Given the description of an element on the screen output the (x, y) to click on. 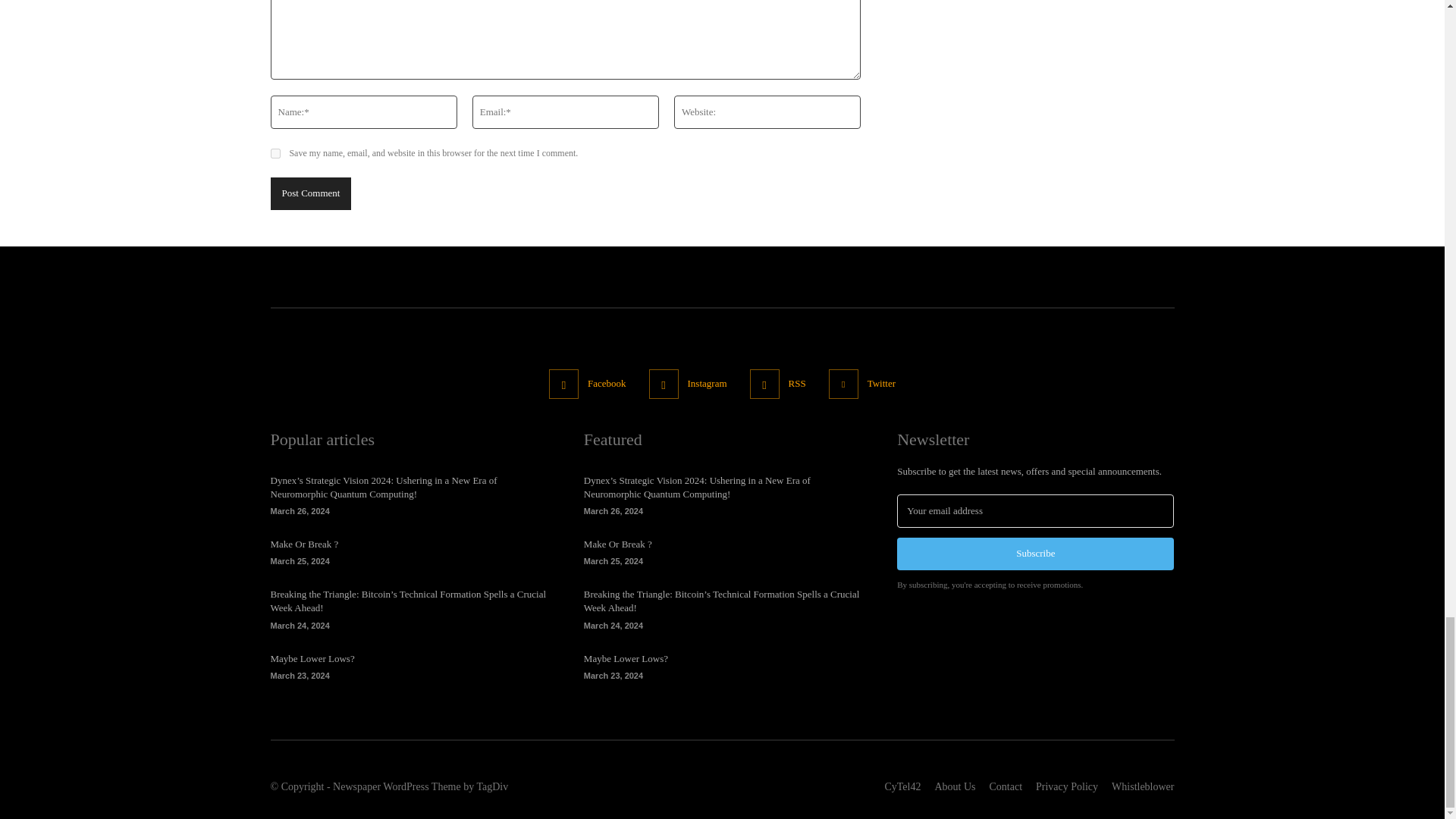
Post Comment (309, 193)
yes (274, 153)
